Given the description of an element on the screen output the (x, y) to click on. 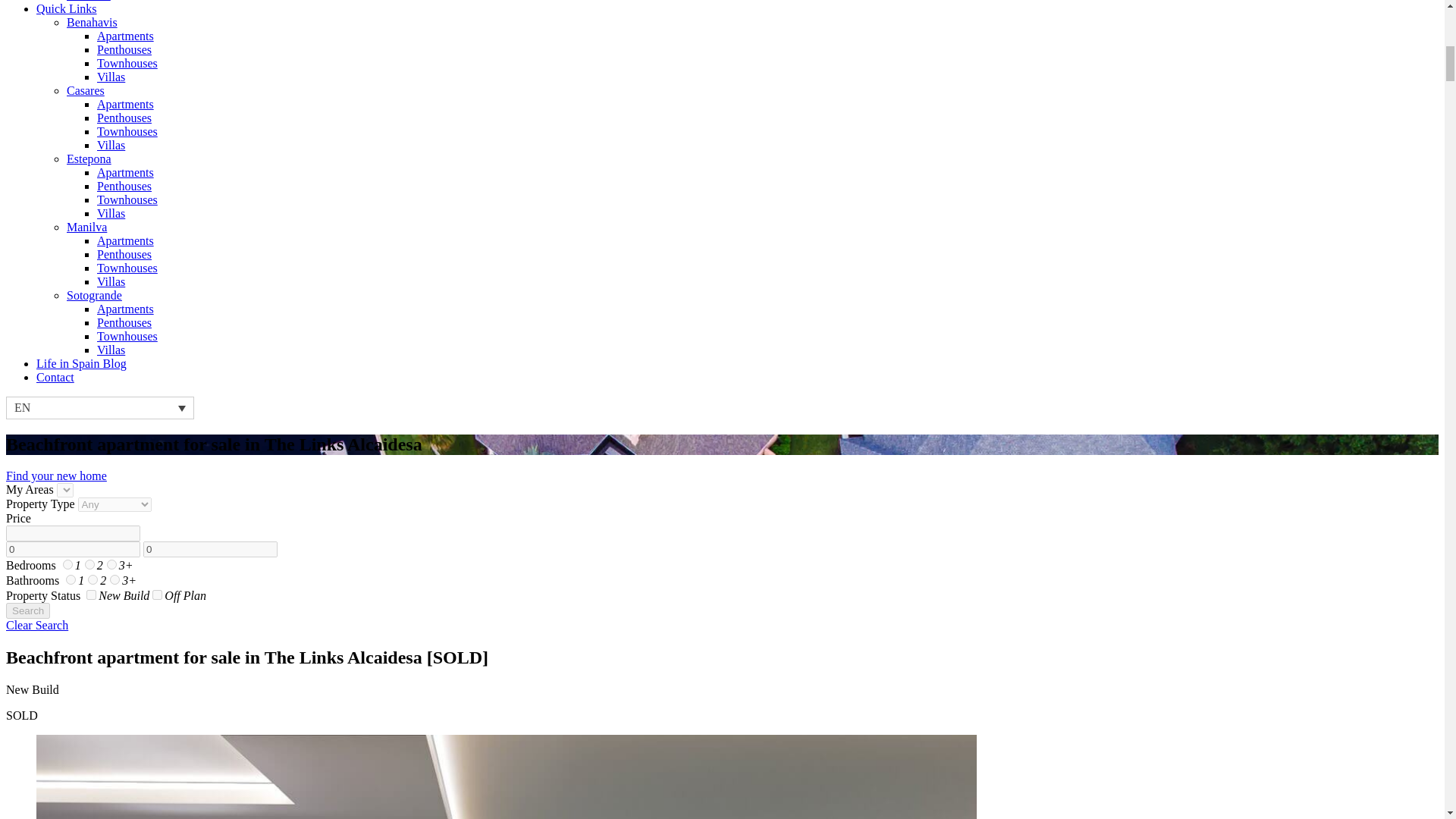
1 (67, 564)
0 (210, 549)
new-build (90, 594)
plan (156, 594)
0 (72, 549)
2 (89, 564)
3 (111, 564)
2 (92, 579)
1 (70, 579)
3 (114, 579)
